Given the description of an element on the screen output the (x, y) to click on. 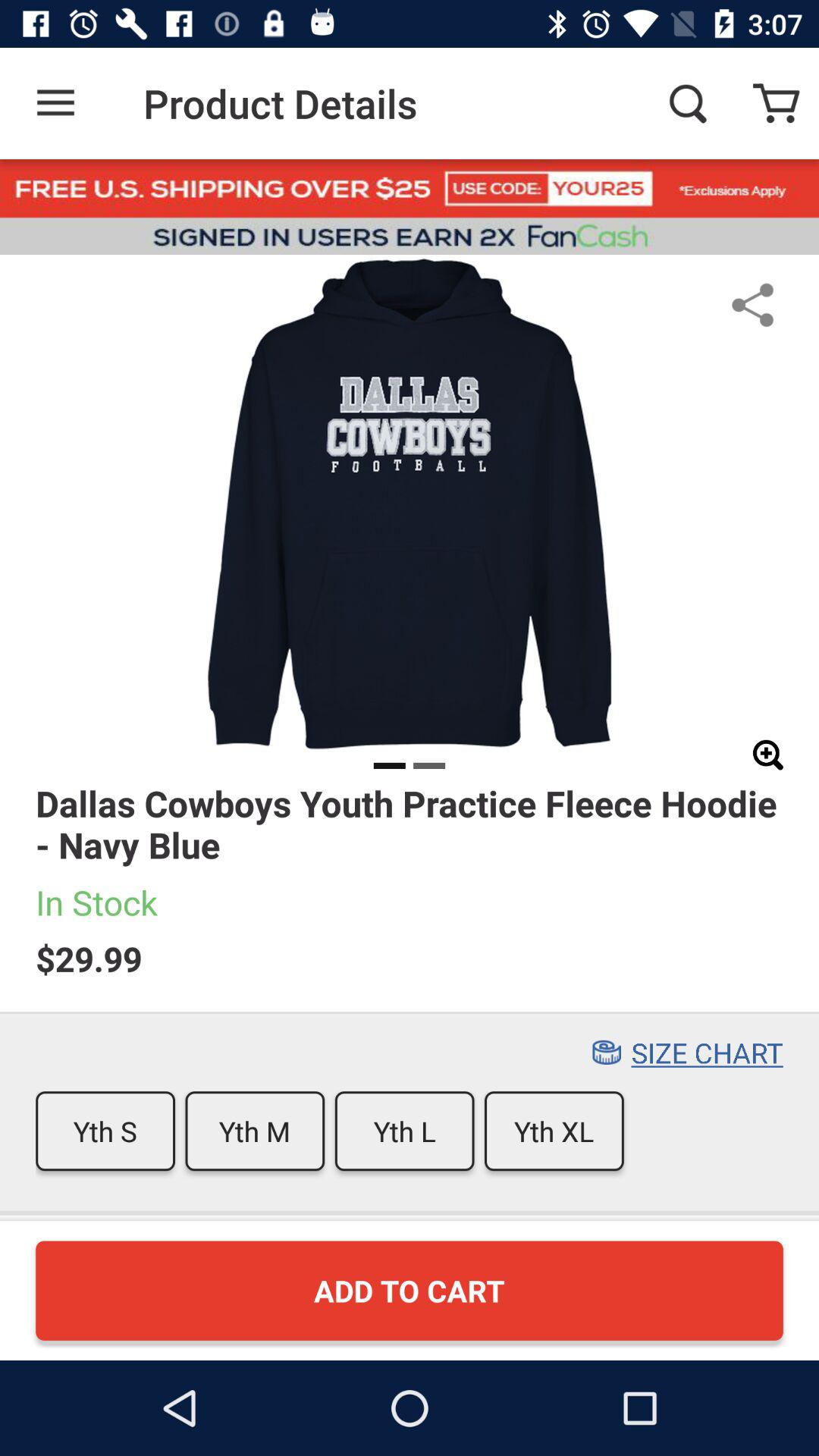
turn on the icon to the right of the yth m icon (404, 1131)
